Given the description of an element on the screen output the (x, y) to click on. 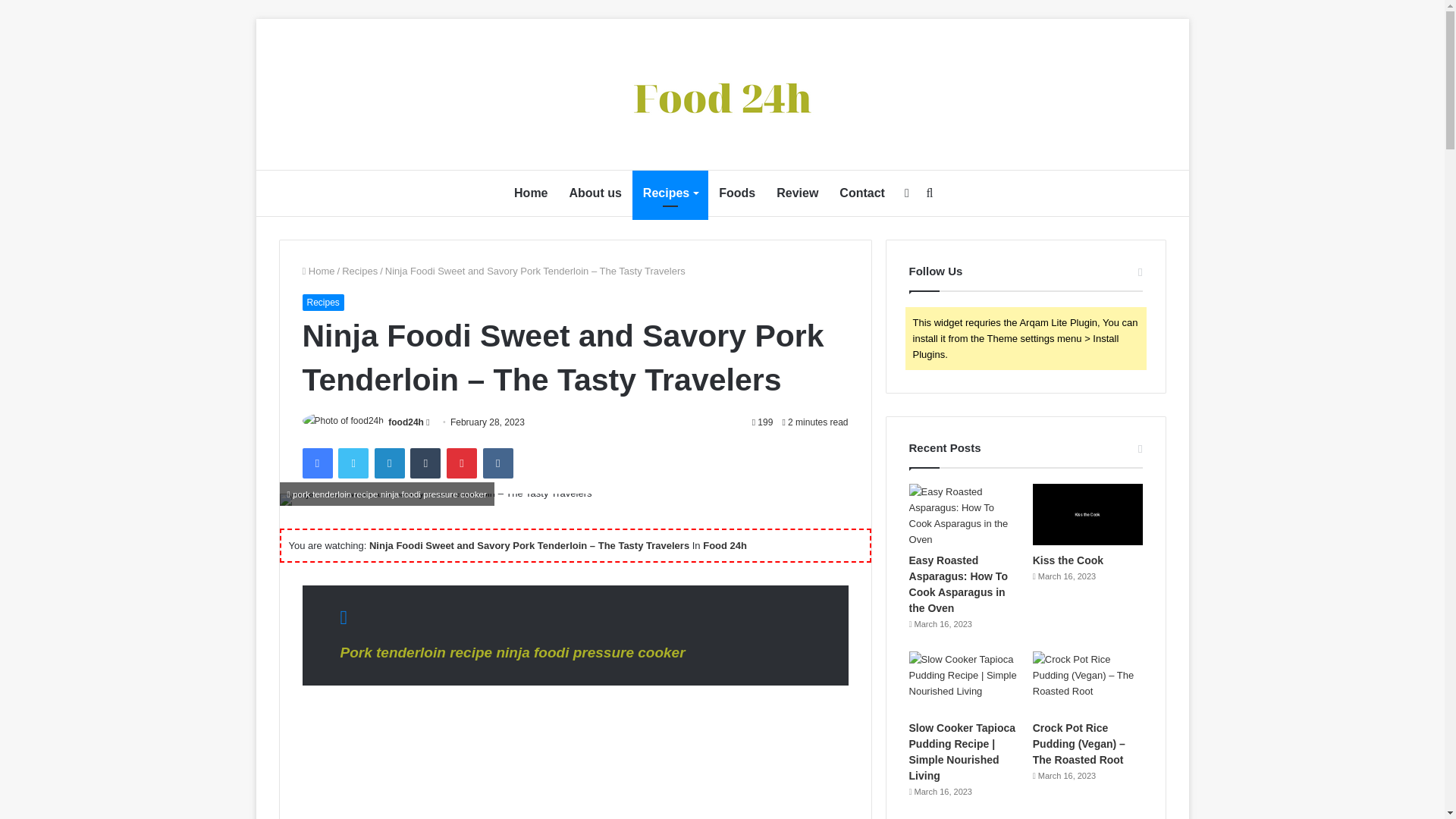
VKontakte (498, 462)
Pork tenderloin recipe ninja foodi pressure cooker (574, 760)
Tumblr (425, 462)
LinkedIn (389, 462)
VKontakte (498, 462)
Tumblr (425, 462)
Twitter (352, 462)
Food 24h (721, 98)
About us (595, 193)
food24h (405, 421)
Twitter (352, 462)
Recipes (322, 302)
Foods (736, 193)
Pork tenderloin recipe ninja foodi pressure cooker (511, 652)
LinkedIn (389, 462)
